Given the description of an element on the screen output the (x, y) to click on. 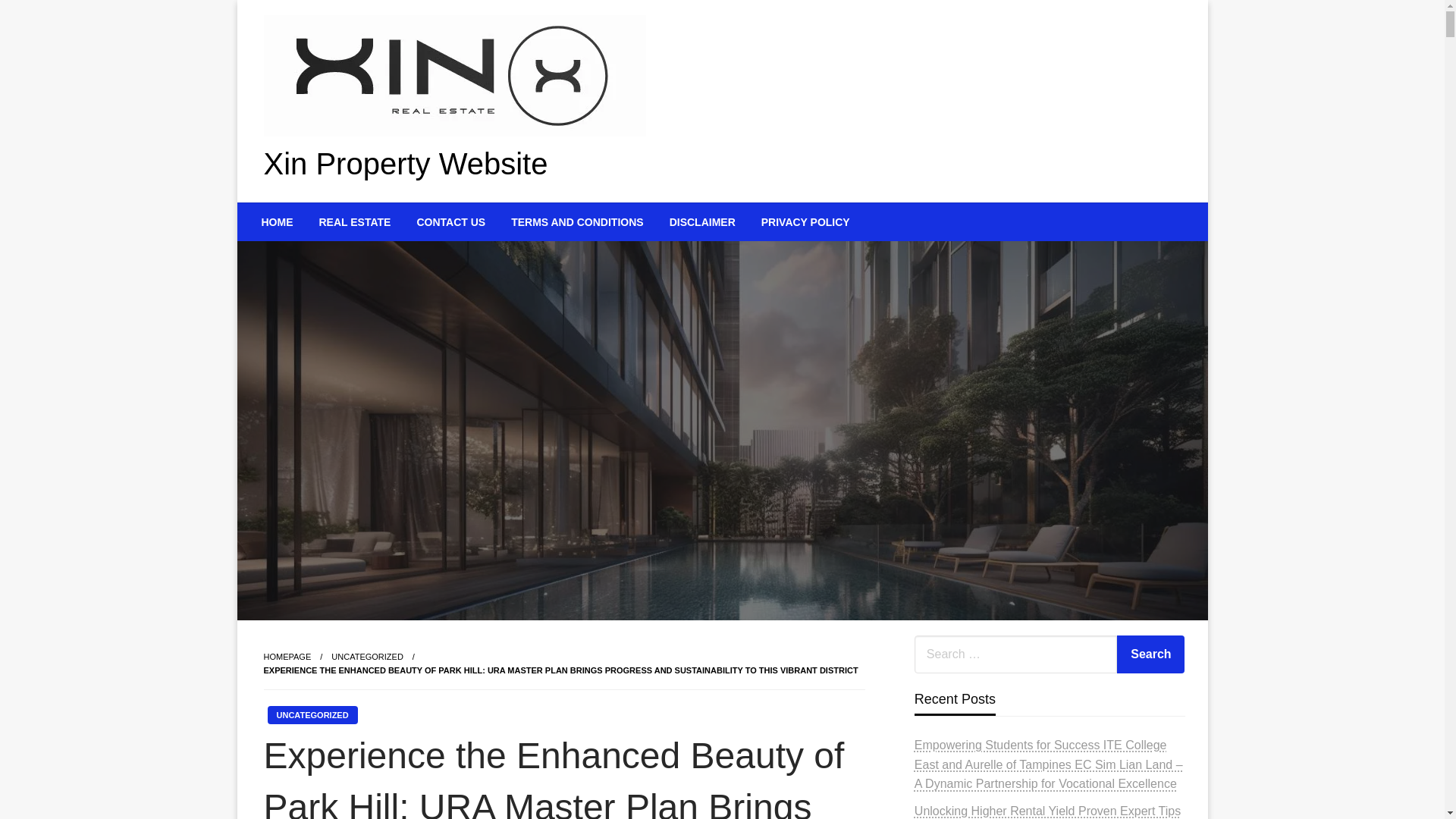
Homepage (287, 655)
Search (1150, 654)
CONTACT US (450, 221)
TERMS AND CONDITIONS (576, 221)
HOME (276, 221)
Search (1150, 654)
Xin Property Website (405, 163)
PRIVACY POLICY (805, 221)
UNCATEGORIZED (367, 655)
HOMEPAGE (287, 655)
Uncategorized (367, 655)
REAL ESTATE (354, 221)
DISCLAIMER (702, 221)
Search (1150, 654)
